Given the description of an element on the screen output the (x, y) to click on. 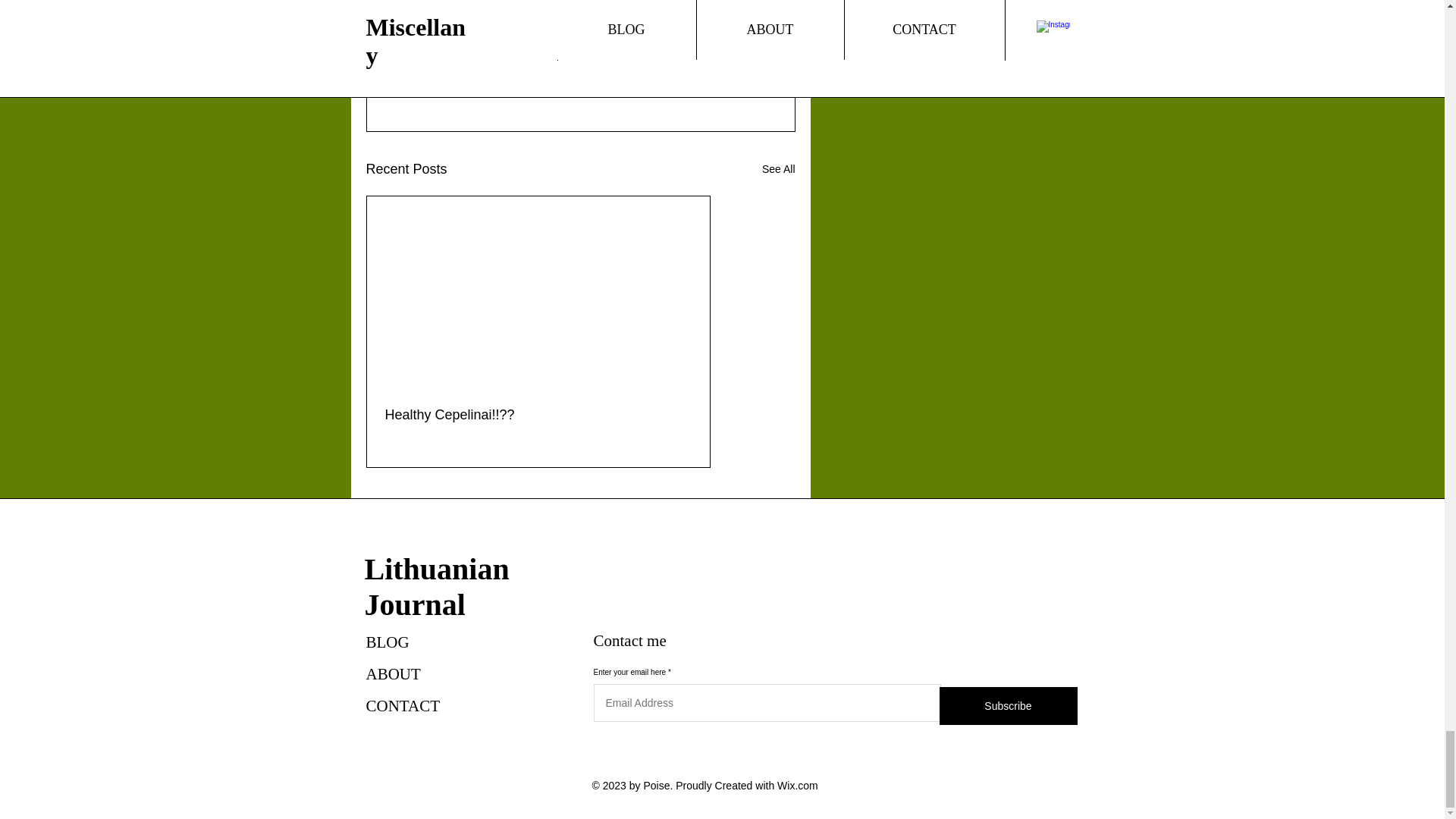
See All (777, 169)
CONTACT (402, 705)
Wix.com (797, 785)
Lithuanian Journal (436, 586)
Subscribe (1008, 705)
ABOUT (392, 674)
BLOG (387, 642)
Healthy Cepelinai!!?? (538, 415)
